Given the description of an element on the screen output the (x, y) to click on. 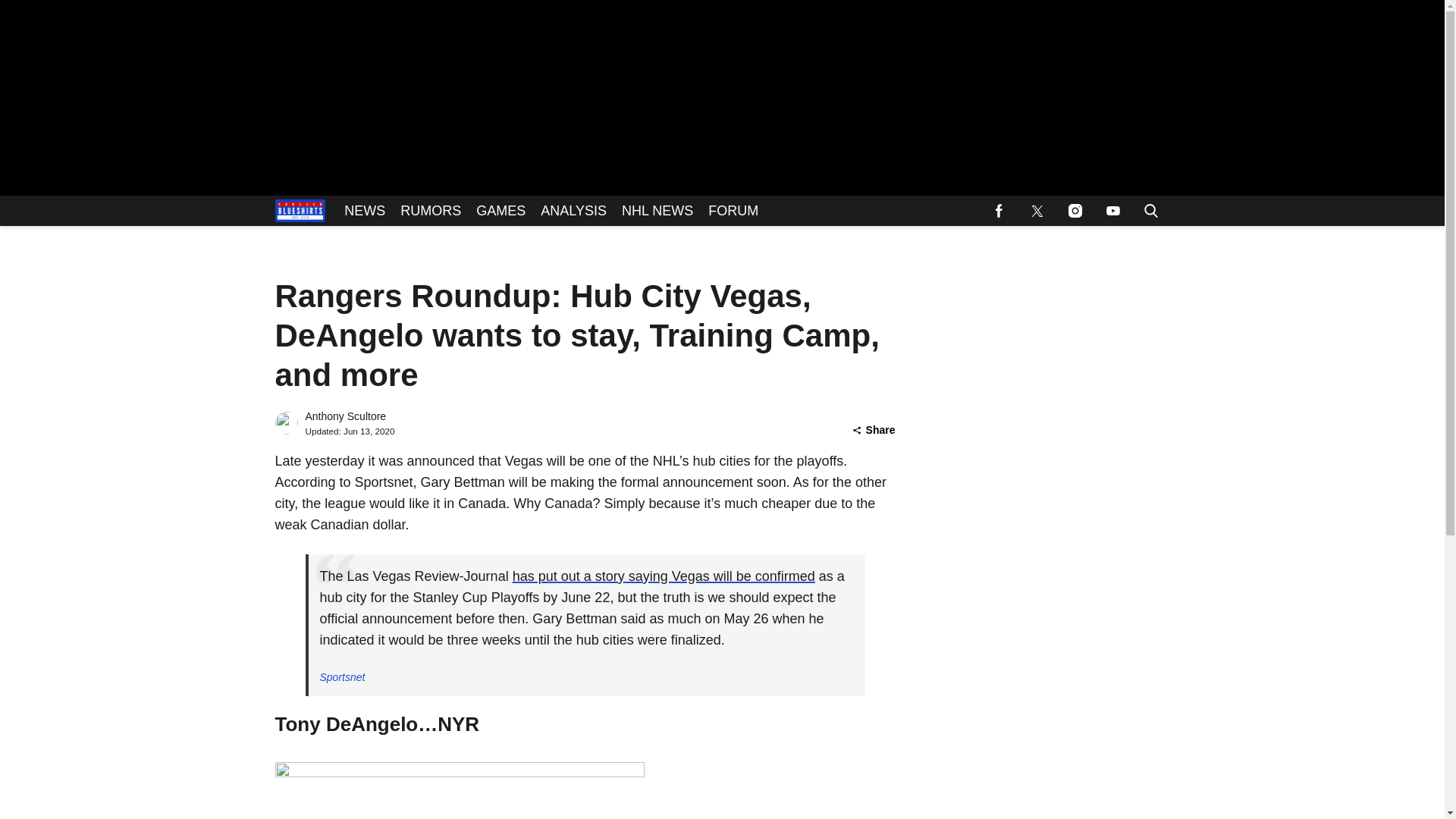
Sportsnet (342, 676)
Posts by Anthony Scultore (344, 416)
Follow us on Facebook (998, 210)
Subscribe to our YouTube channel (1112, 210)
Follow us on Twitter (1036, 210)
FORUM (732, 210)
ANALYSIS (573, 210)
NHL NEWS (657, 210)
GAMES (500, 210)
has put out a story saying Vegas will be confirmed (663, 575)
